Given the description of an element on the screen output the (x, y) to click on. 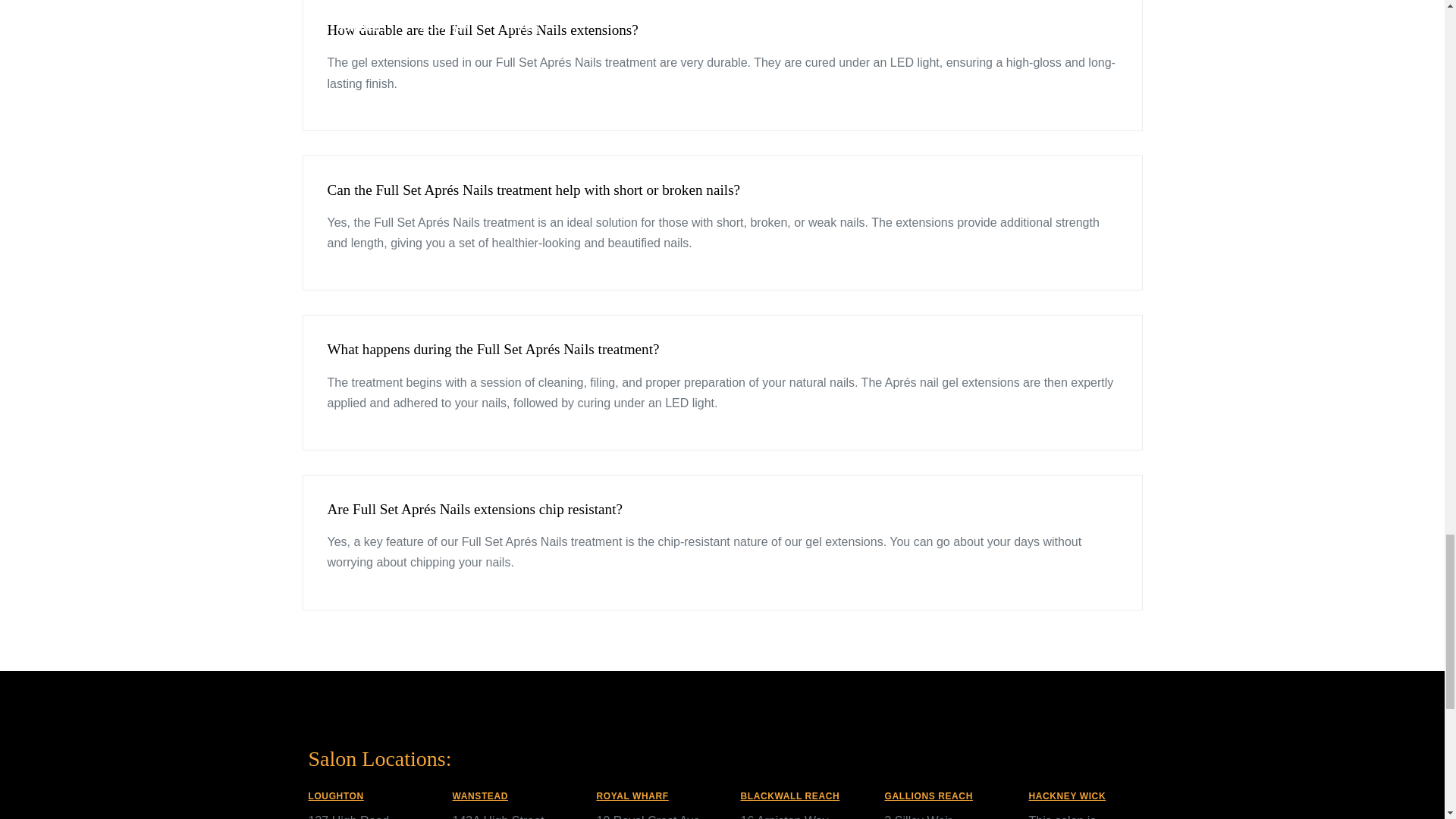
HACKNEY WICK (1066, 796)
WANSTEAD (478, 796)
BLACKWALL REACH (789, 796)
ROYAL WHARF (631, 796)
GALLIONS REACH (927, 796)
LOUGHTON (334, 796)
